Given the description of an element on the screen output the (x, y) to click on. 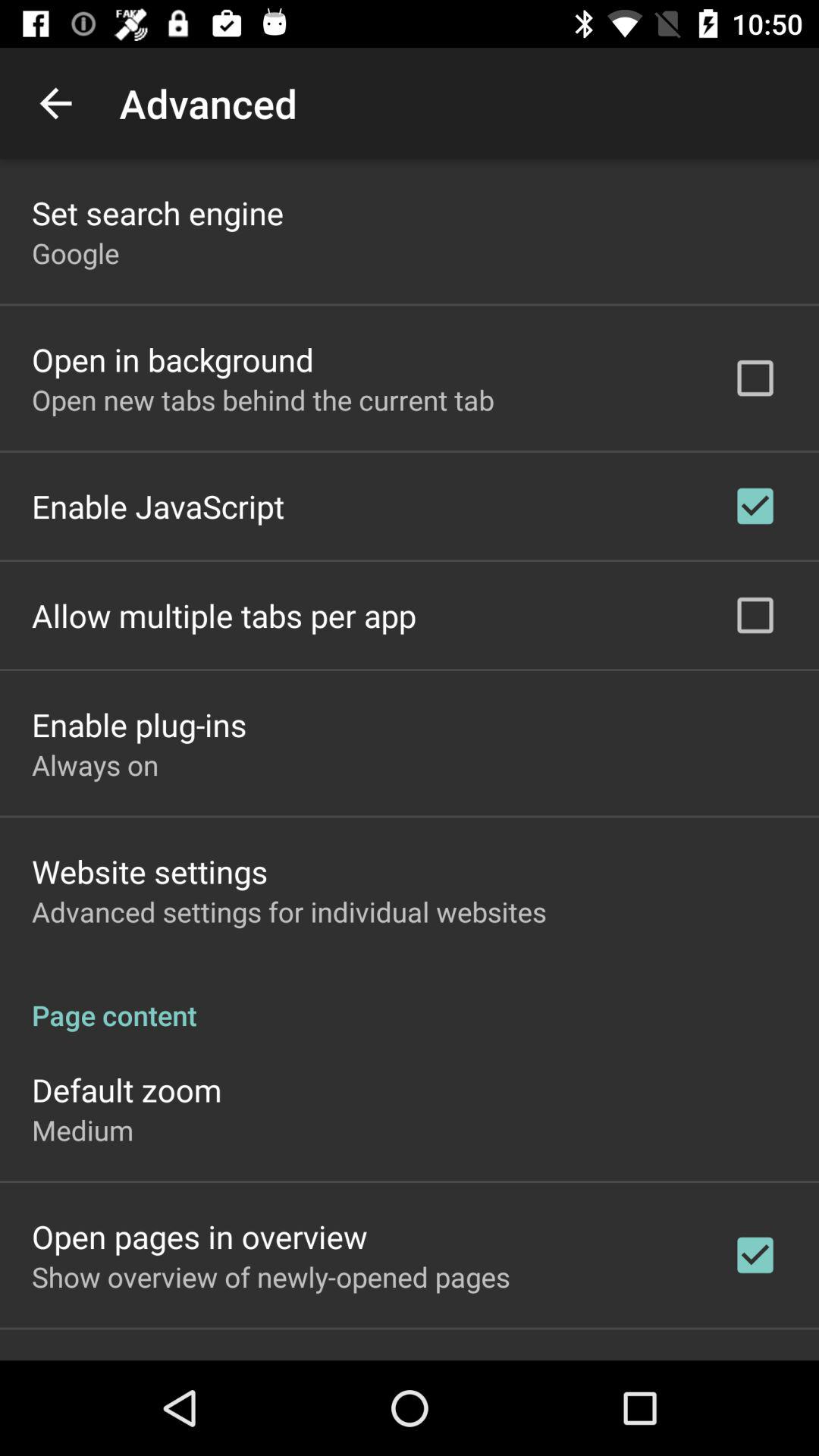
press allow multiple tabs item (223, 615)
